Given the description of an element on the screen output the (x, y) to click on. 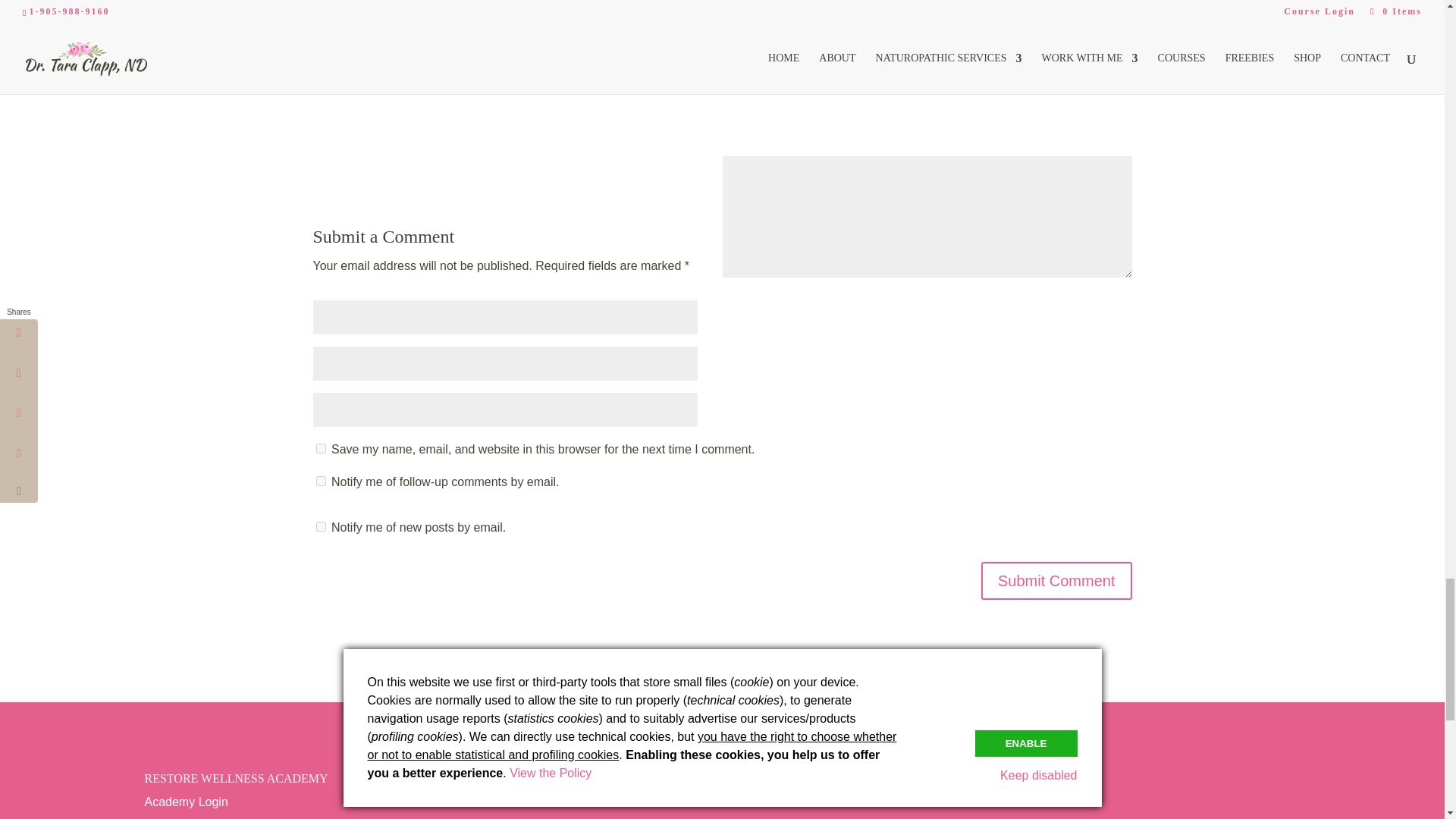
subscribe (319, 480)
yes (319, 448)
Submit Comment (1056, 580)
subscribe (319, 526)
